Given the description of an element on the screen output the (x, y) to click on. 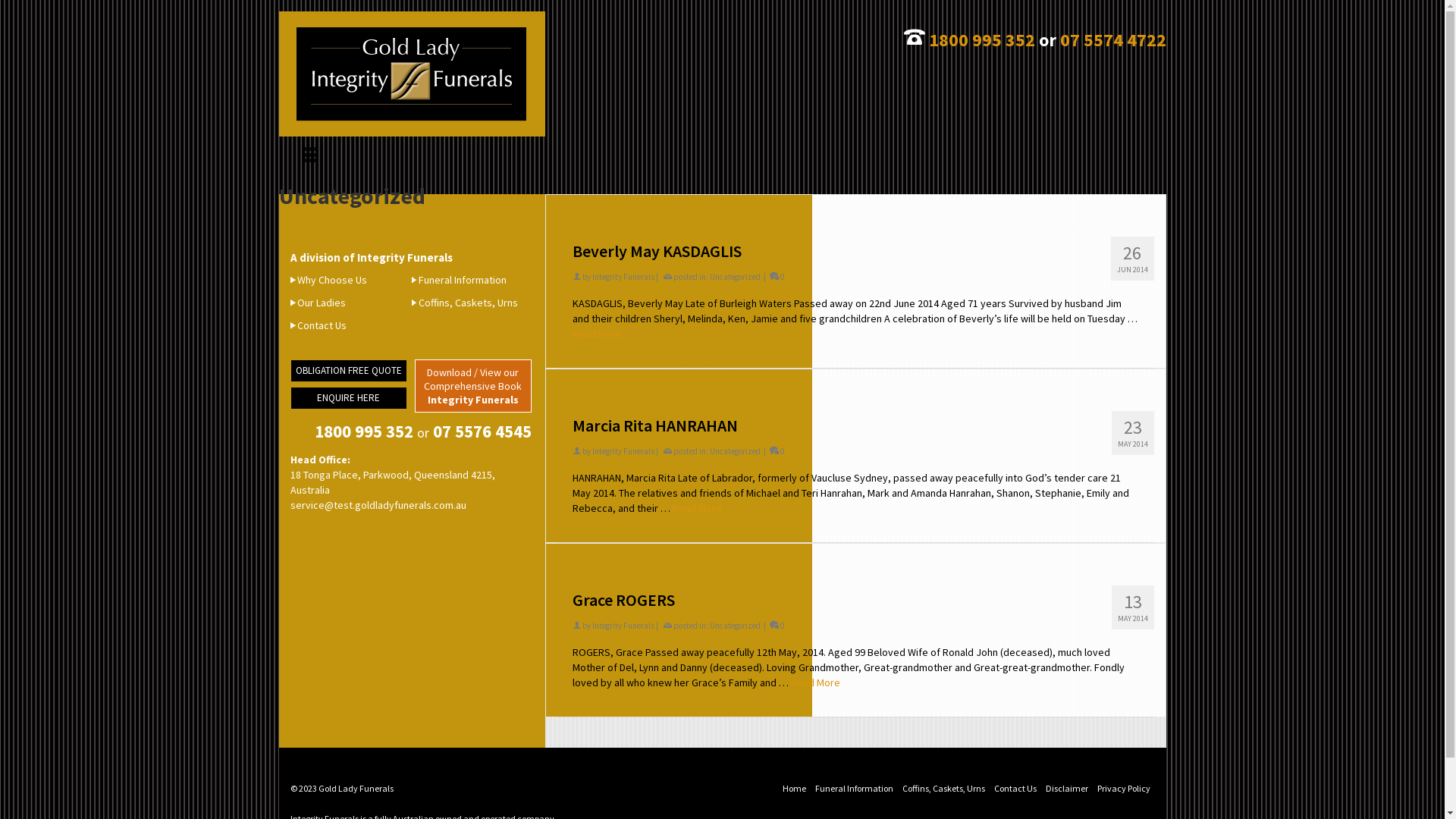
Coffins, Caskets, Urns Element type: text (464, 302)
0 Element type: text (775, 450)
Our Ladies Element type: text (317, 302)
Coffins, Caskets, Urns Element type: text (943, 788)
Why Choose Us Element type: text (327, 279)
07 5576 4545 Element type: text (481, 431)
Contact Us Element type: text (317, 325)
1800 995 352 Element type: text (981, 39)
Read More Element type: text (696, 507)
Grace ROGERS Element type: text (854, 599)
Privacy Policy Element type: text (1123, 788)
Read More Element type: text (814, 682)
Integrity Funerals Element type: text (622, 276)
Funeral Information Element type: text (853, 788)
OBLIGATION FREE QUOTE Element type: text (347, 370)
Beverly May KASDAGLIS Element type: text (854, 250)
Integrity Funerals Element type: text (622, 625)
Disclaimer Element type: text (1066, 788)
Home Element type: text (794, 788)
Funeral Information Element type: text (458, 279)
Uncategorized Element type: text (734, 450)
0 Element type: text (775, 276)
Uncategorized Element type: text (734, 625)
0 Element type: text (775, 625)
1800 995 352 Element type: text (362, 431)
Uncategorized Element type: text (734, 276)
Integrity Funerals Element type: text (622, 450)
07 5574 4722 Element type: text (1113, 39)
Download / View our Comprehensive Book Integrity Funerals Element type: text (472, 385)
ENQUIRE HERE Element type: text (347, 397)
Marcia Rita HANRAHAN Element type: text (854, 425)
service@test.goldladyfunerals.com.au Element type: text (377, 504)
Contact Us Element type: text (1014, 788)
Read More Element type: text (596, 333)
